Given the description of an element on the screen output the (x, y) to click on. 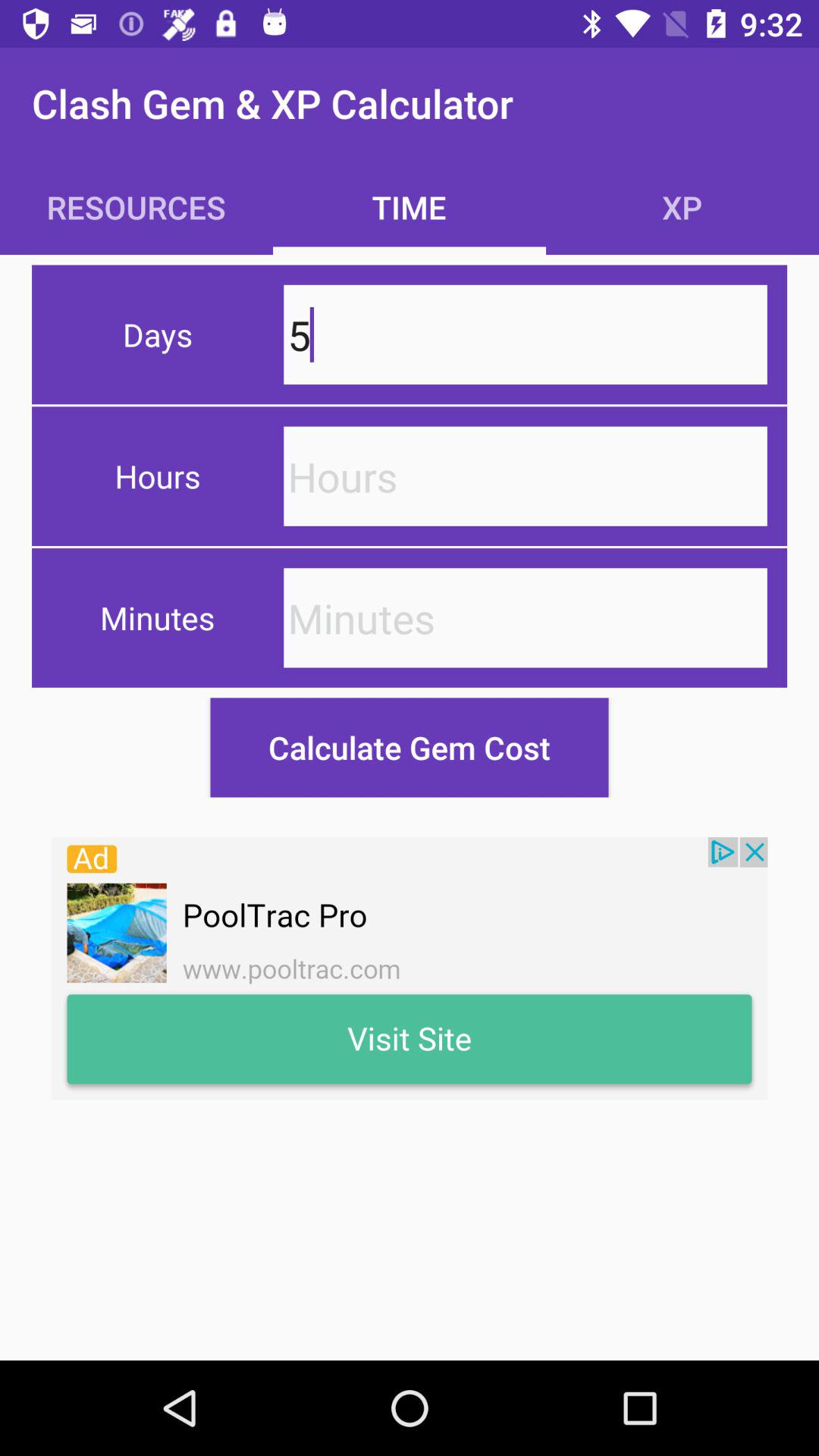
advertisement (409, 968)
